Given the description of an element on the screen output the (x, y) to click on. 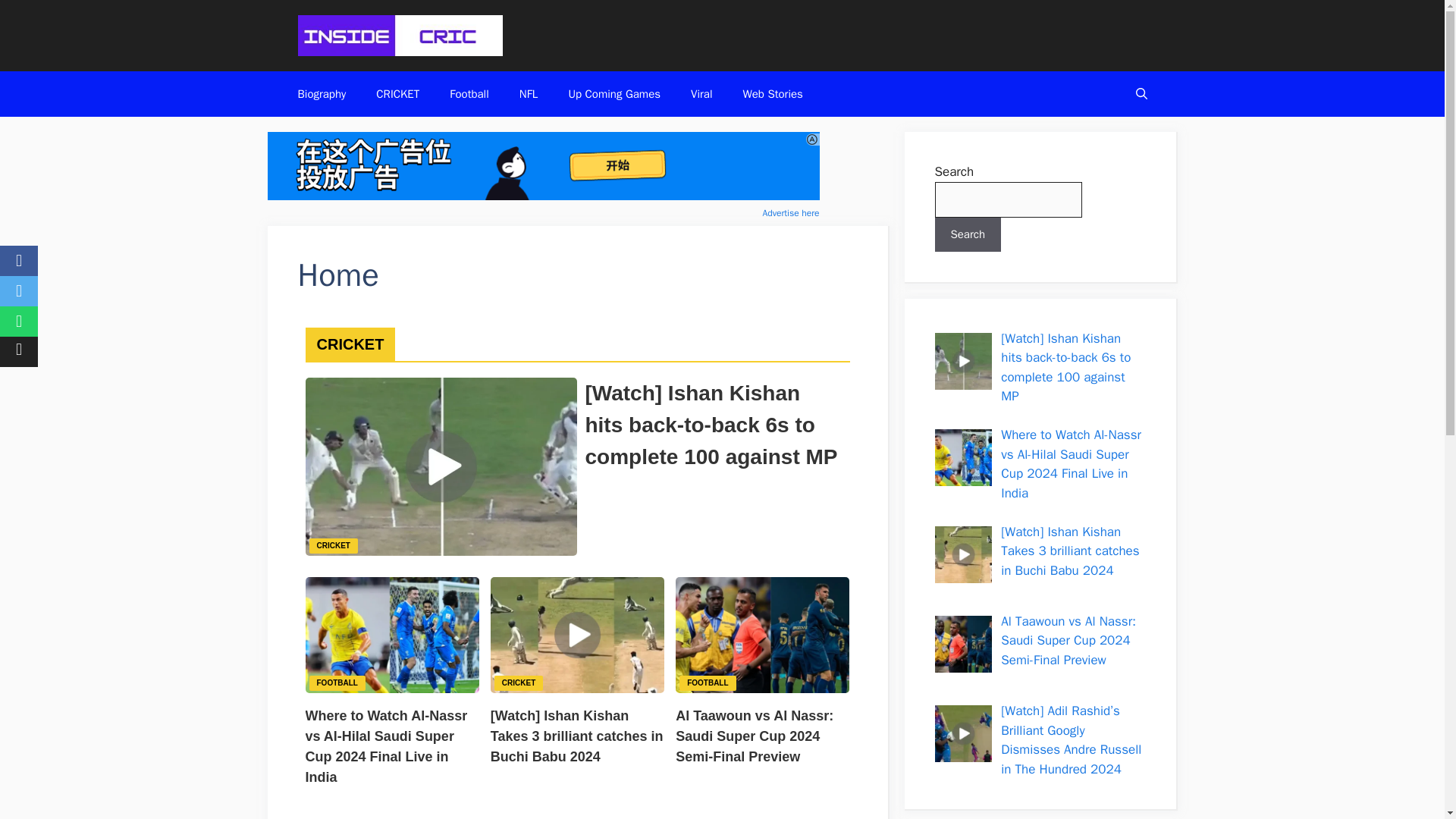
Viral (700, 94)
Up Coming Games (614, 94)
CRICKET (519, 681)
Search (967, 234)
Biography (321, 94)
Football (468, 94)
Web Stories (771, 94)
FOOTBALL (336, 681)
